Given the description of an element on the screen output the (x, y) to click on. 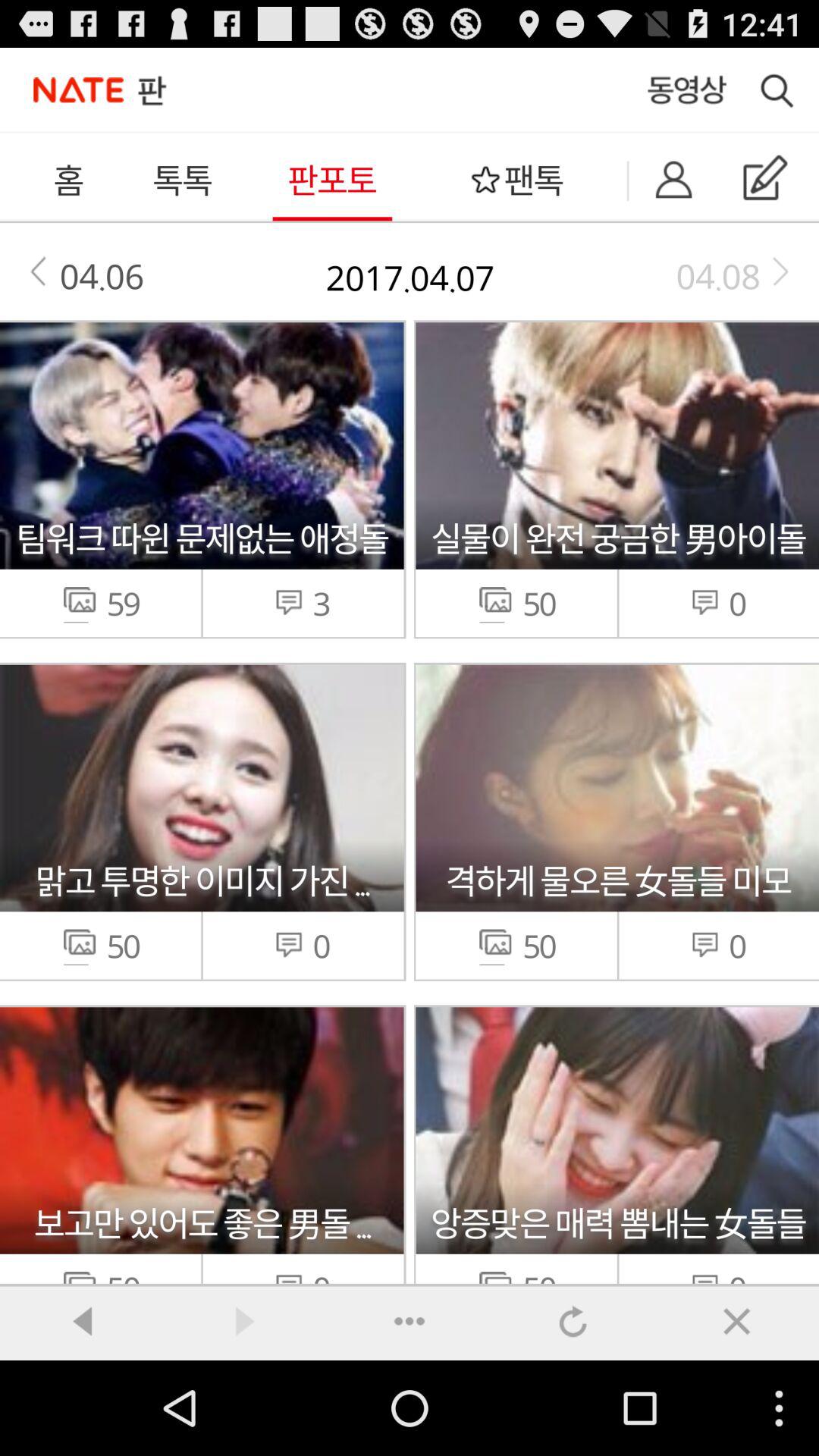
back forward reload option (409, 1320)
